Given the description of an element on the screen output the (x, y) to click on. 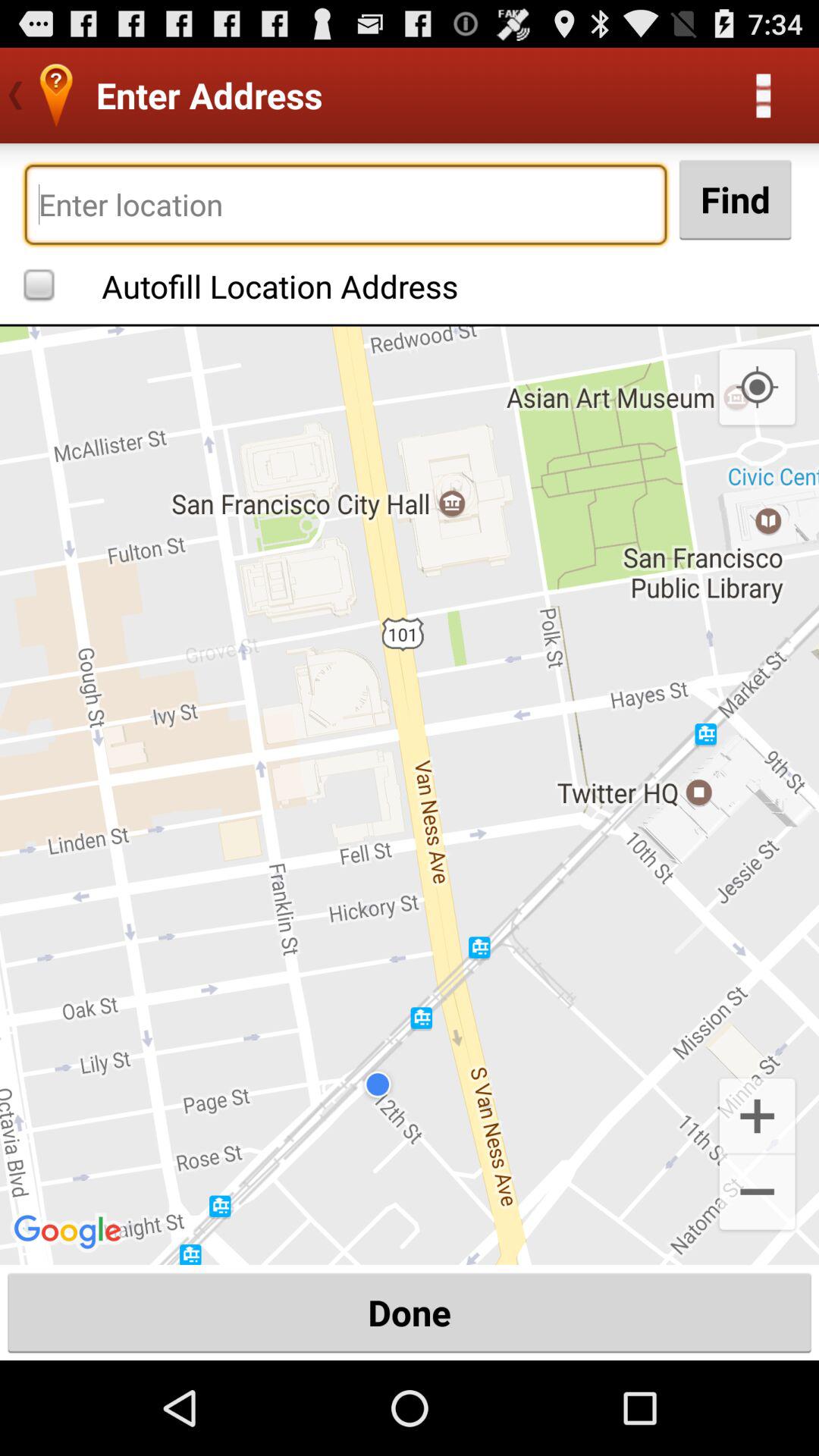
select icon above find icon (763, 95)
